Given the description of an element on the screen output the (x, y) to click on. 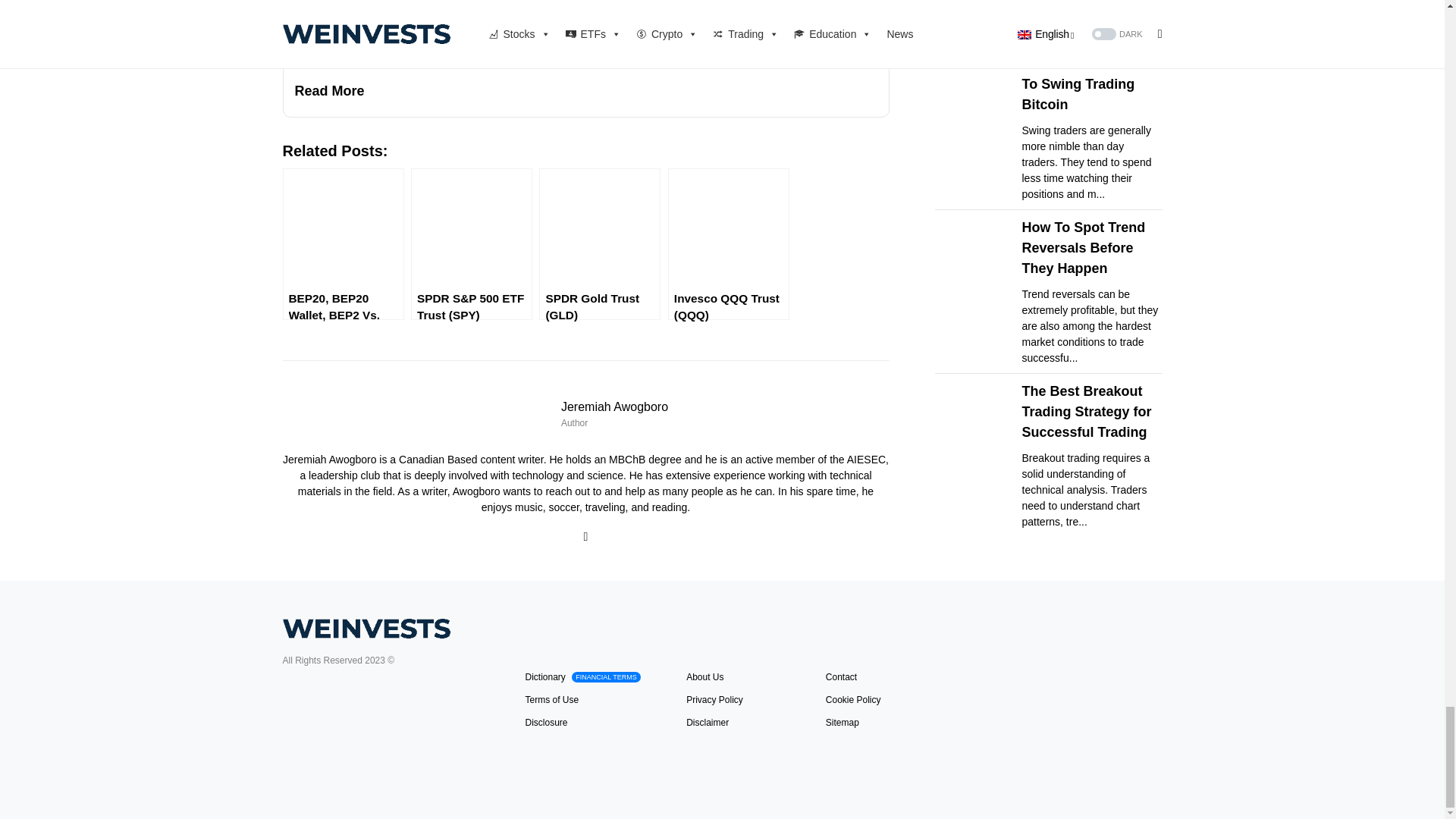
DMCA.com Protection Status (388, 723)
BEP20, BEP20 Wallet, BEP2 Vs. BEP20 (342, 244)
